Given the description of an element on the screen output the (x, y) to click on. 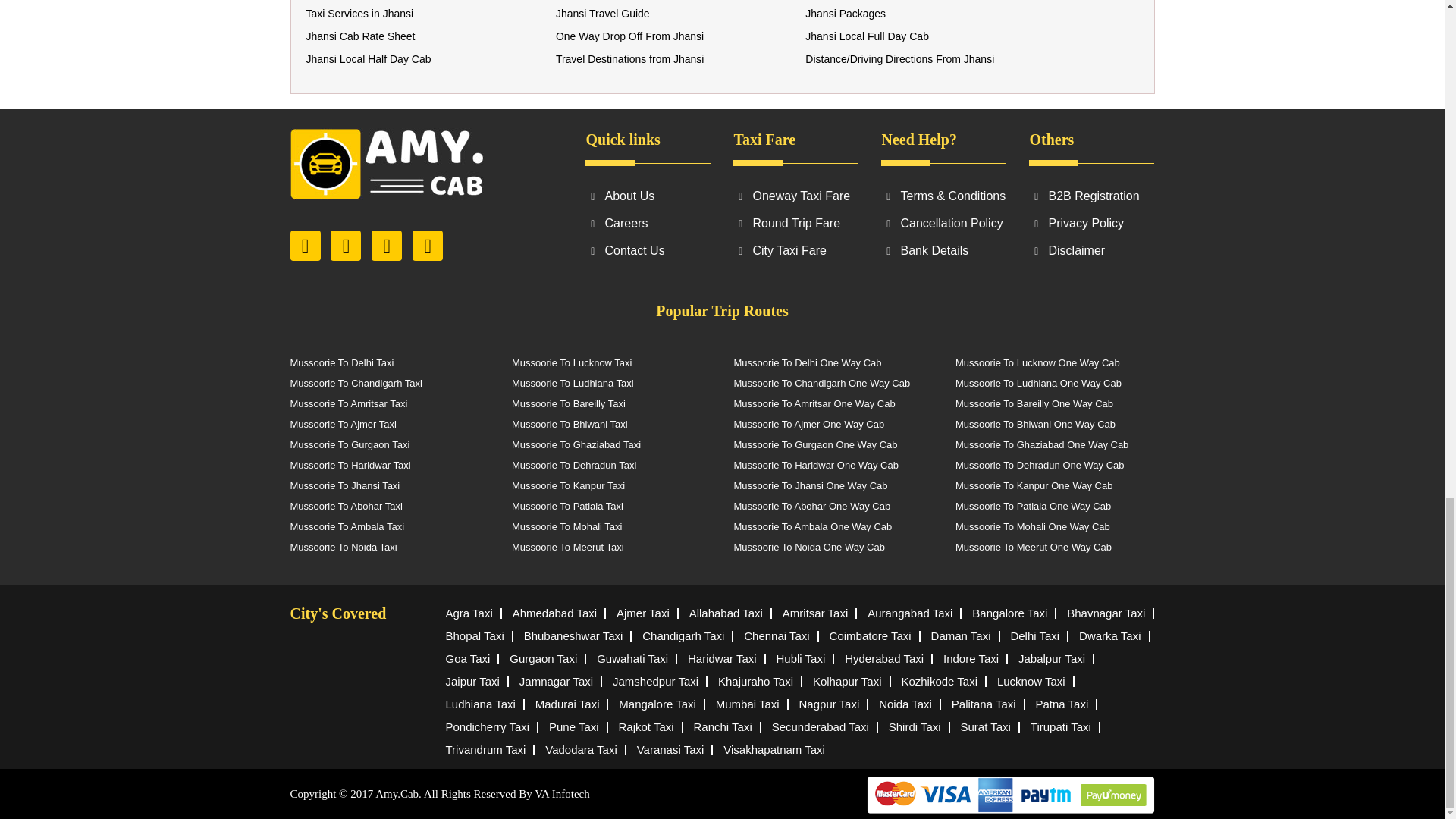
One Way Drop Off From Jhansi (629, 36)
Jhansi Local Full Day Cab (866, 36)
Jhansi Local Half Day Cab (367, 59)
Jhansi Packages (845, 13)
Jhansi Cab Rate Sheet (359, 36)
Travel Destinations from Jhansi (630, 59)
Taxi Services in Jhansi (359, 13)
Jhansi Travel Guide (602, 13)
